Given the description of an element on the screen output the (x, y) to click on. 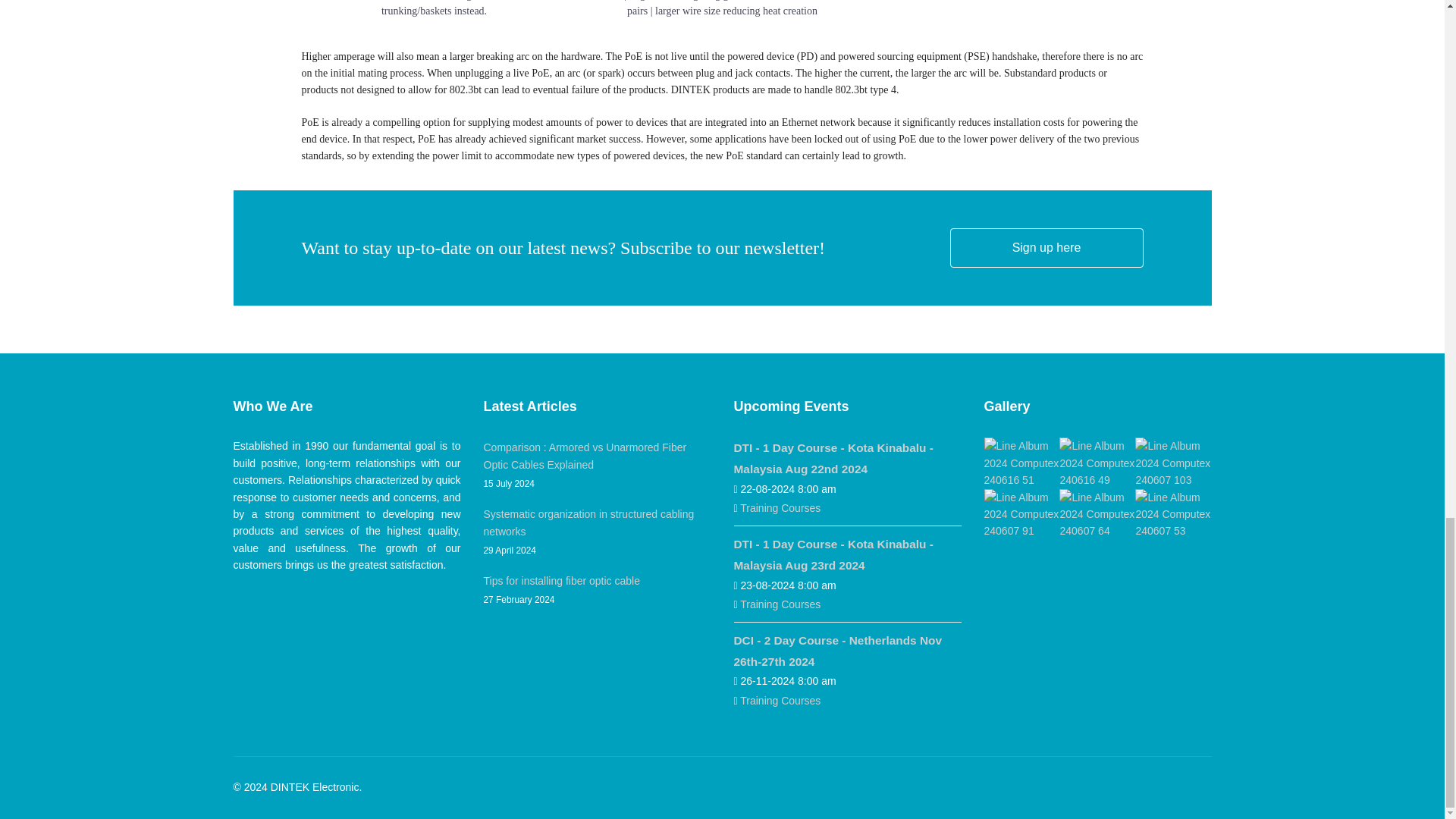
Line Album 2024 Computex 240616 51 (1021, 462)
Line Album 2024 Computex 240616 49 (1097, 462)
Line Album 2024 Computex 240607 91 (1021, 513)
Line Album 2024 Computex 240607 103 (1173, 462)
Line Album 2024 Computex 240607 64 (1097, 513)
Line Album 2024 Computex 240607 53 (1173, 513)
